Given the description of an element on the screen output the (x, y) to click on. 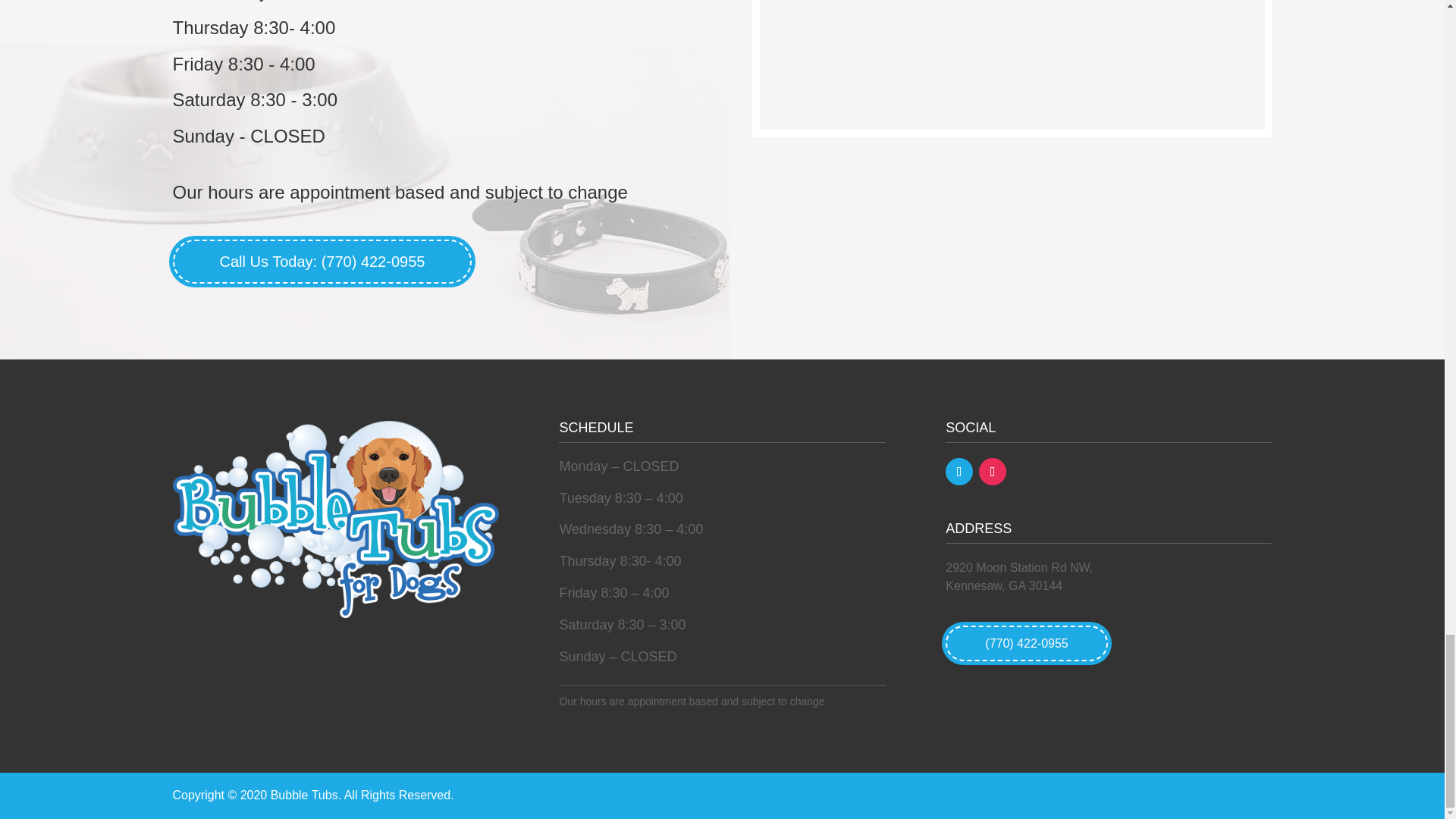
Follow on Facebook (958, 471)
Follow on Instagram (992, 471)
